Given the description of an element on the screen output the (x, y) to click on. 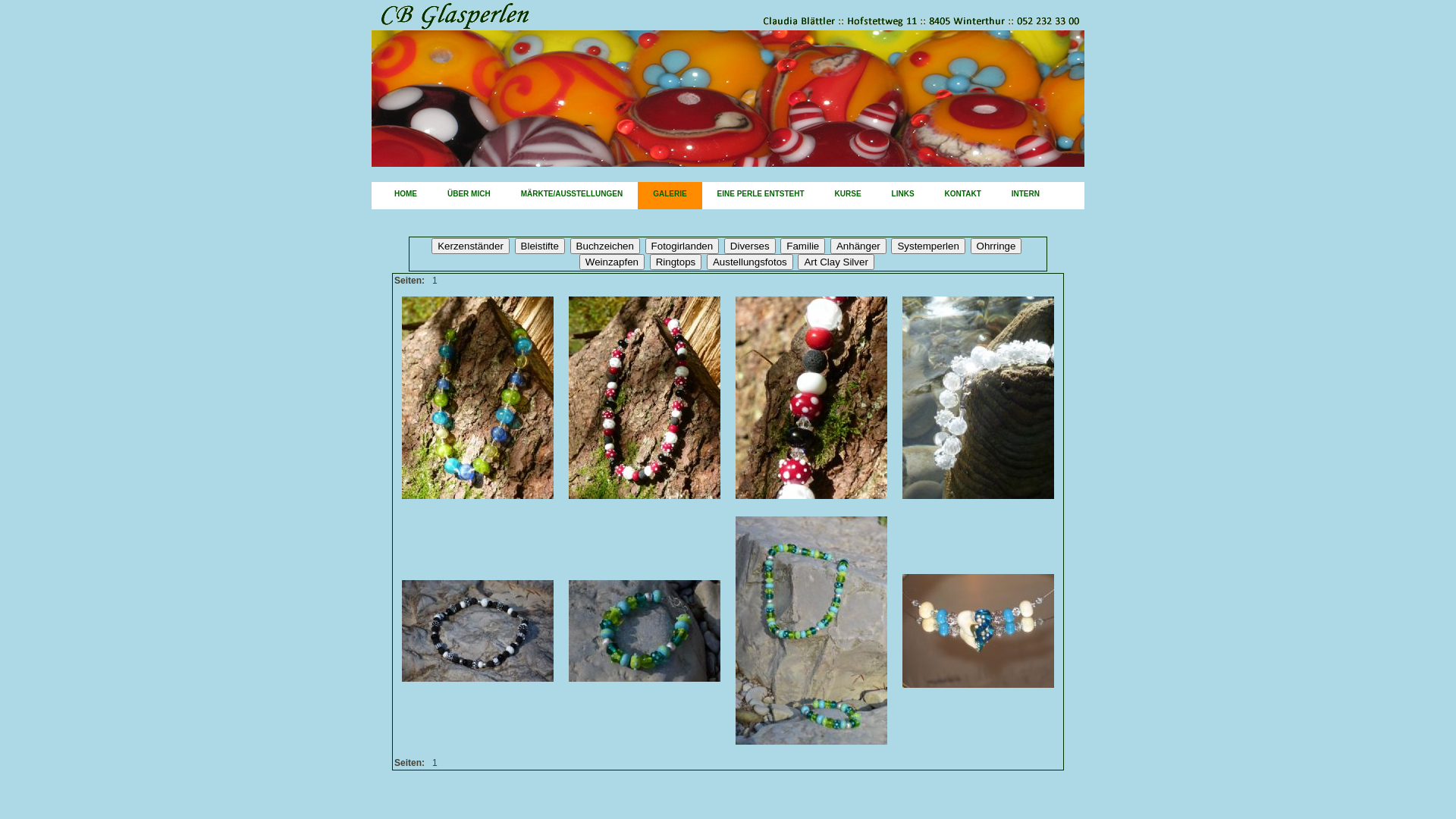
Familie Element type: text (802, 246)
EINE PERLE ENTSTEHT Element type: text (760, 195)
Fotogirlanden Element type: text (682, 246)
Diverses Element type: text (749, 246)
HOME Element type: text (405, 195)
KURSE Element type: text (847, 195)
KONTAKT Element type: text (962, 195)
Art Clay Silver Element type: text (835, 261)
INTERN Element type: text (1025, 195)
LINKS Element type: text (902, 195)
Austellungsfotos Element type: text (749, 261)
Buchzeichen Element type: text (605, 246)
Weinzapfen Element type: text (611, 261)
GALERIE Element type: text (669, 195)
Systemperlen Element type: text (928, 246)
Ohrringe Element type: text (996, 246)
Bleistifte Element type: text (539, 246)
Ringtops Element type: text (675, 261)
